Given the description of an element on the screen output the (x, y) to click on. 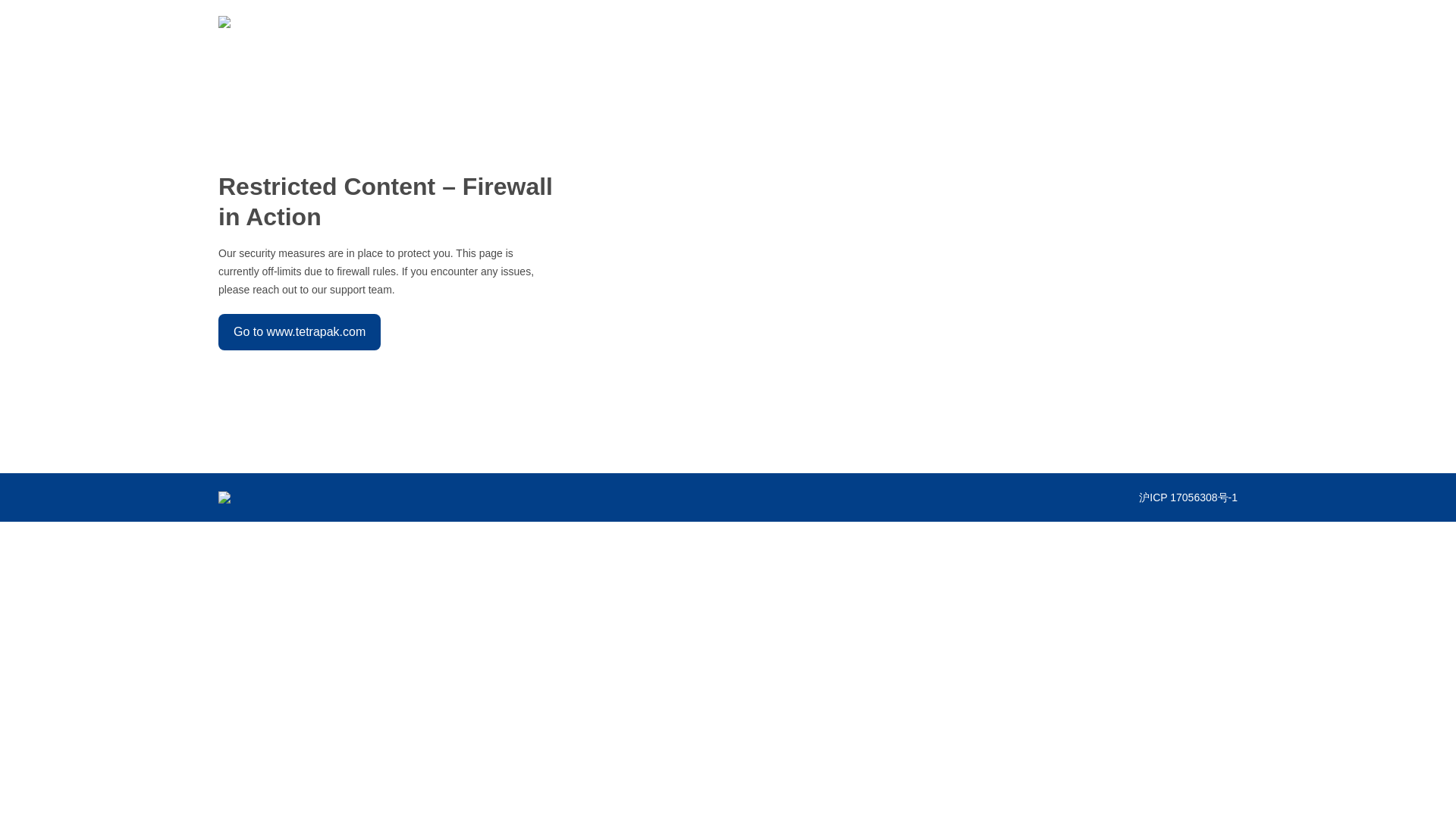
Go to www.tetrapak.com (299, 331)
